Given the description of an element on the screen output the (x, y) to click on. 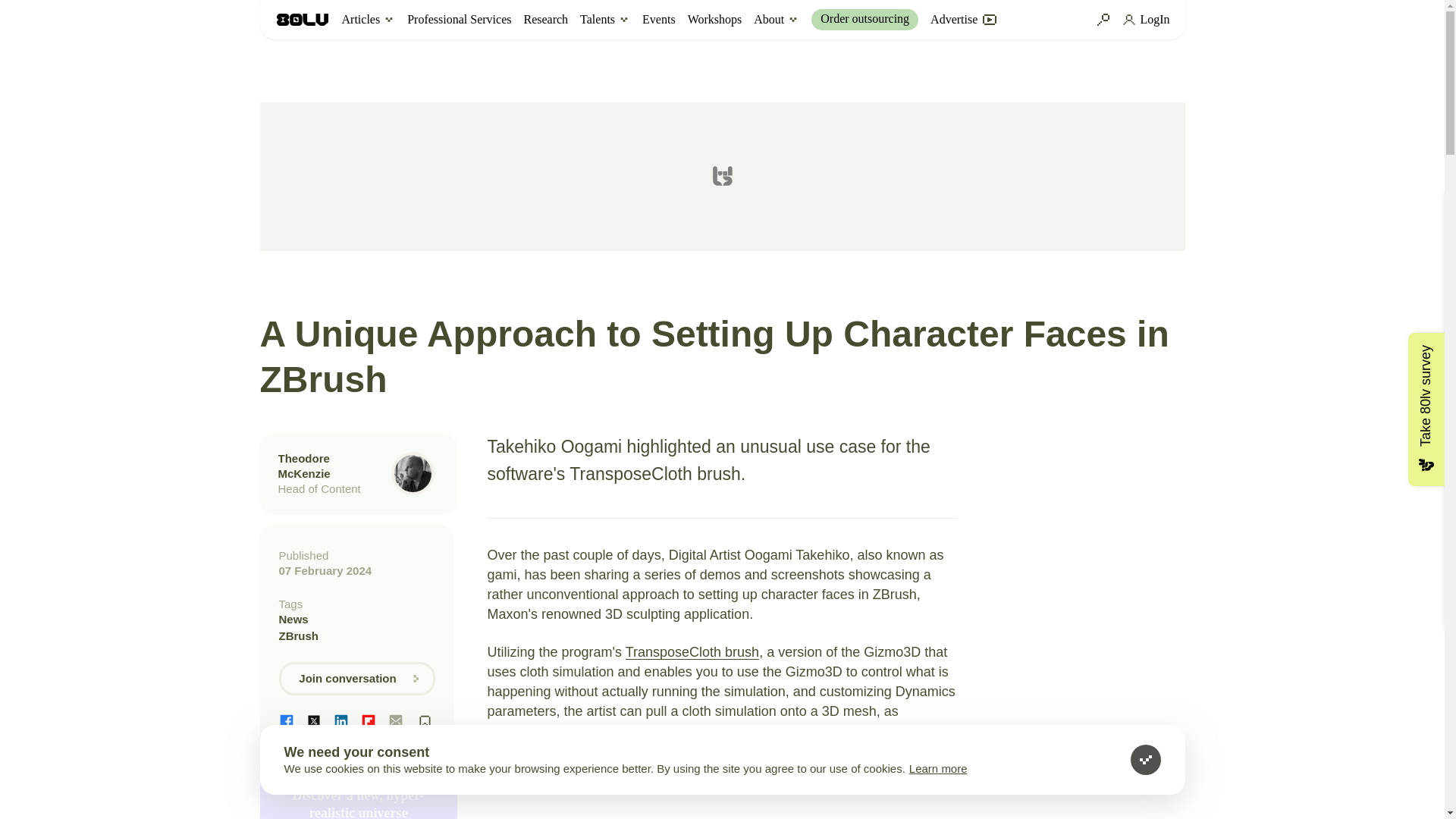
Join conversation (357, 678)
LinkedIn (341, 720)
Order outsourcing (864, 19)
Facebook (286, 720)
Theodore McKenzie (304, 465)
Flipboard (368, 720)
ZBrush (357, 635)
News (357, 619)
TransposeCloth brush (692, 652)
Twitter (313, 720)
